Given the description of an element on the screen output the (x, y) to click on. 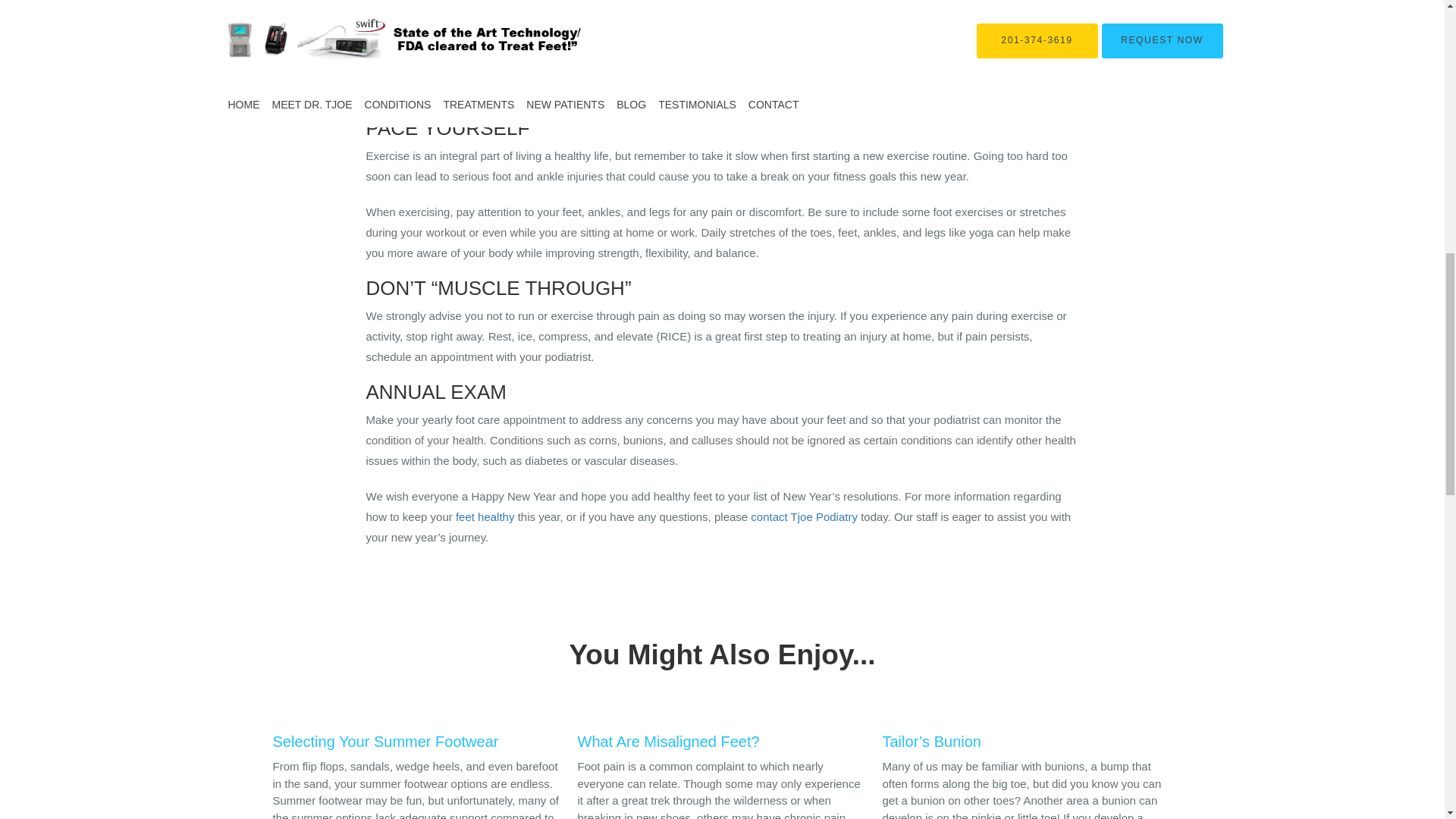
Selecting Your Summer Footwear (417, 737)
contact Tjoe Podiatry (804, 516)
feet healthy (485, 516)
What Are Misaligned Feet? (722, 737)
